Given the description of an element on the screen output the (x, y) to click on. 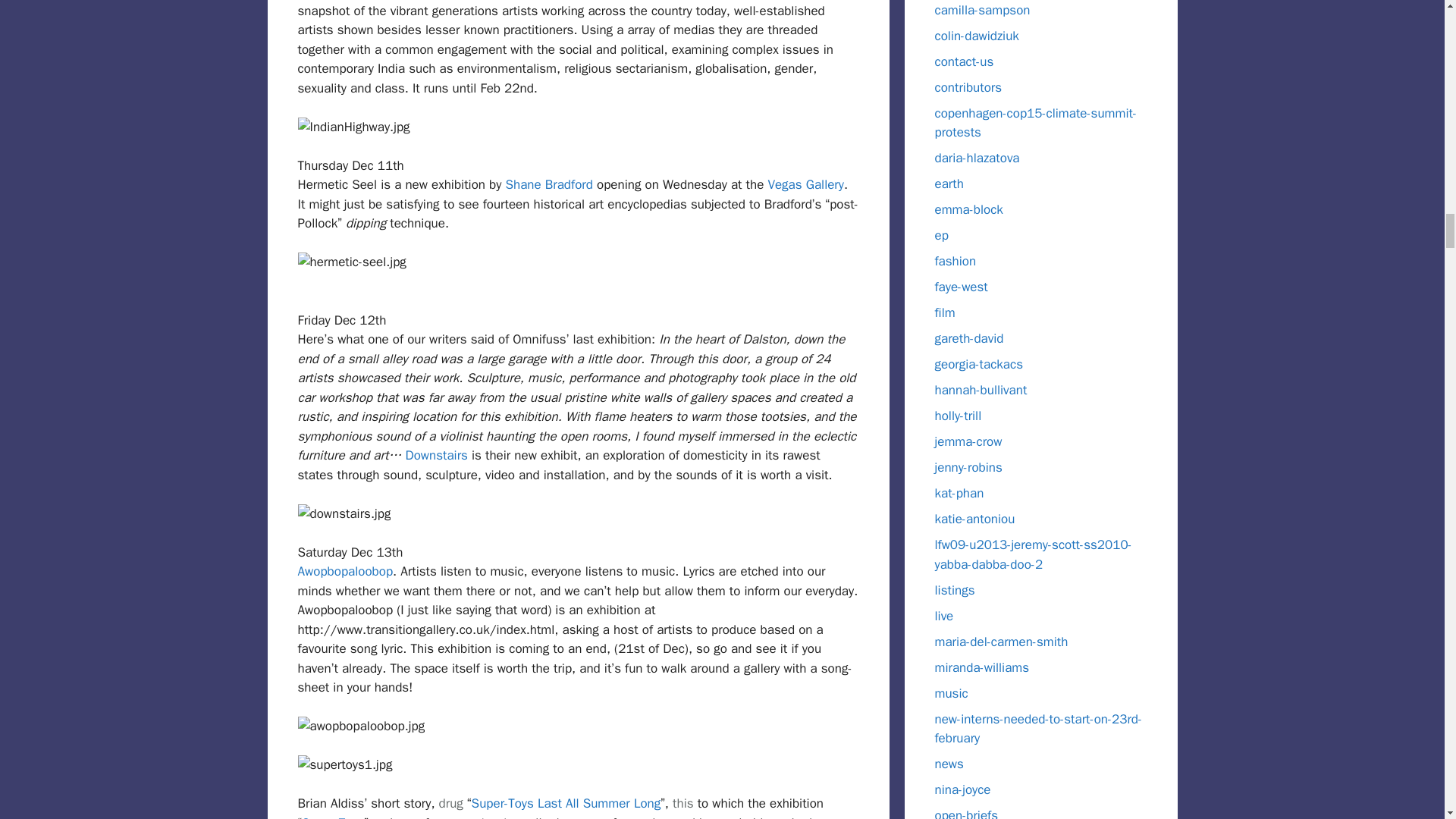
cialis (683, 803)
